Given the description of an element on the screen output the (x, y) to click on. 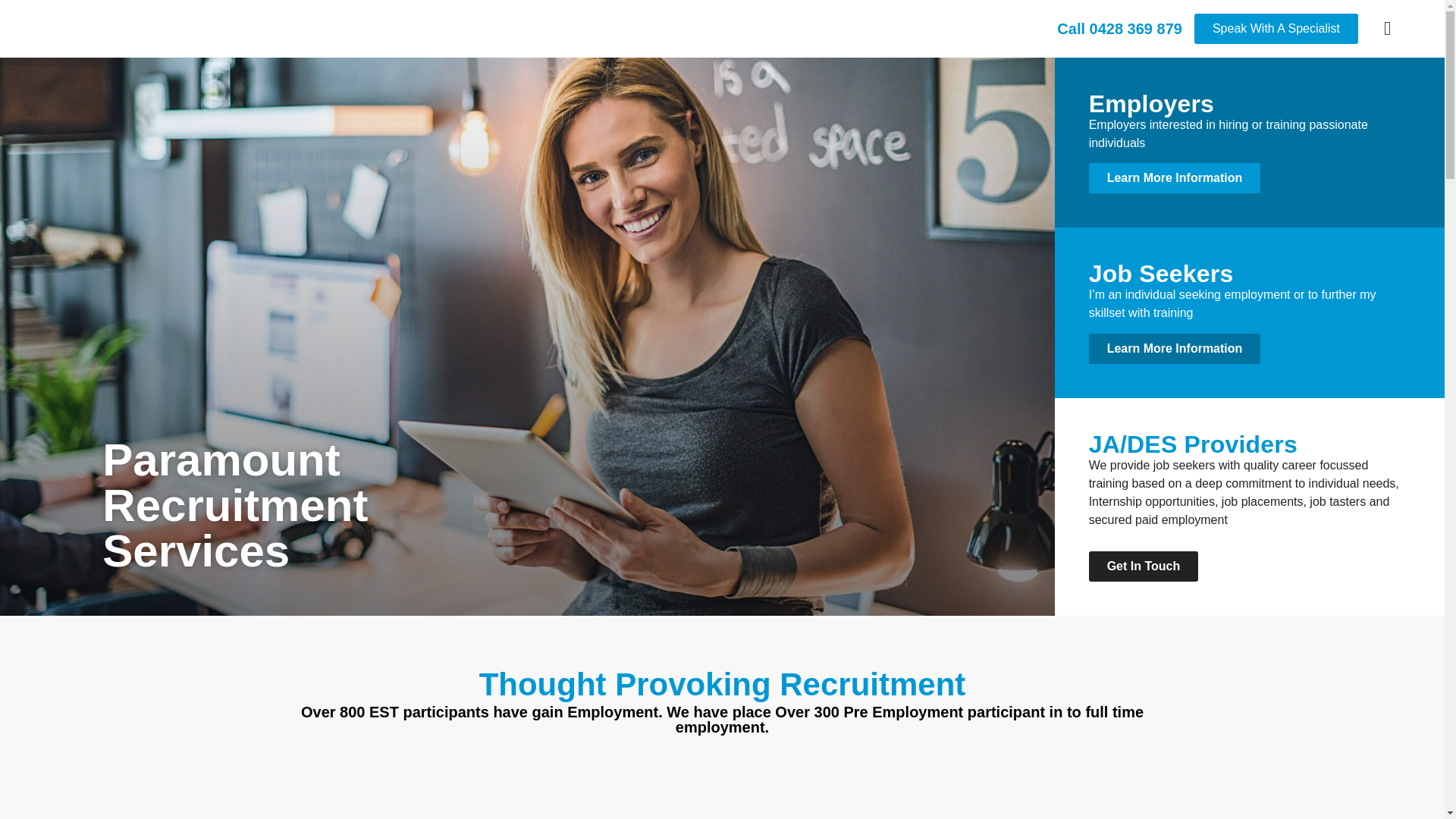
Call 0428 369 879 (1119, 28)
Get In Touch (1143, 566)
Learn More Information (1174, 177)
Speak With A Specialist (1275, 28)
Learn More Information (1174, 348)
